Given the description of an element on the screen output the (x, y) to click on. 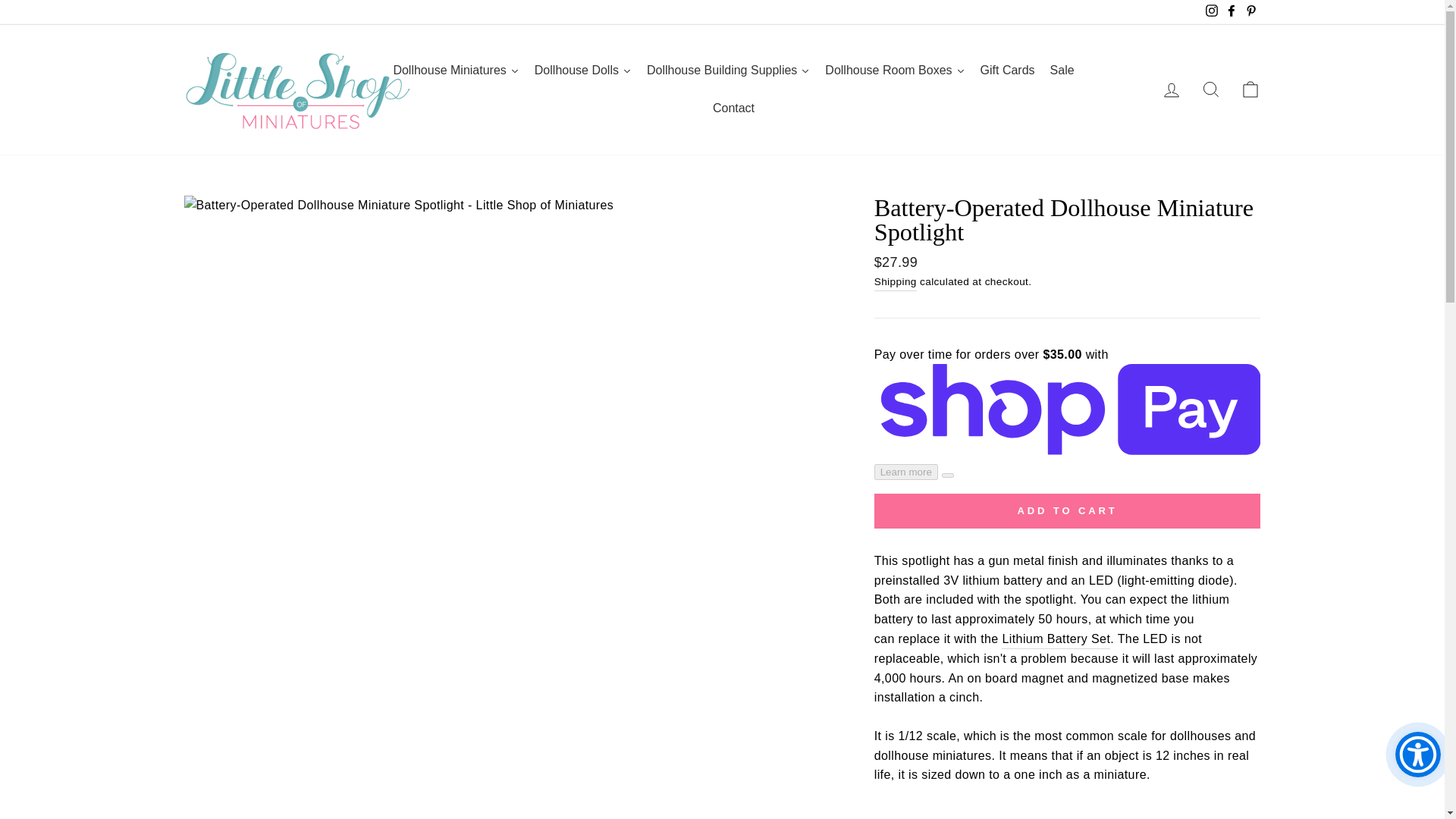
Dollhouse Dolls (583, 70)
Dollhouse Room Boxes (894, 70)
Sale (1061, 70)
Dollhouse Dolls (583, 70)
Dollhouse Miniatures (455, 70)
Dollhouse Miniatures (455, 70)
Contact (732, 108)
Dollhouse Building Supplies (727, 70)
Gift Cards (1007, 70)
Sale (1061, 70)
LOG IN (1171, 89)
Gift Cards (1007, 70)
ADD TO CART (1067, 510)
Lithium Battery Set (1055, 639)
Dollhouse Room Boxes (894, 70)
